Given the description of an element on the screen output the (x, y) to click on. 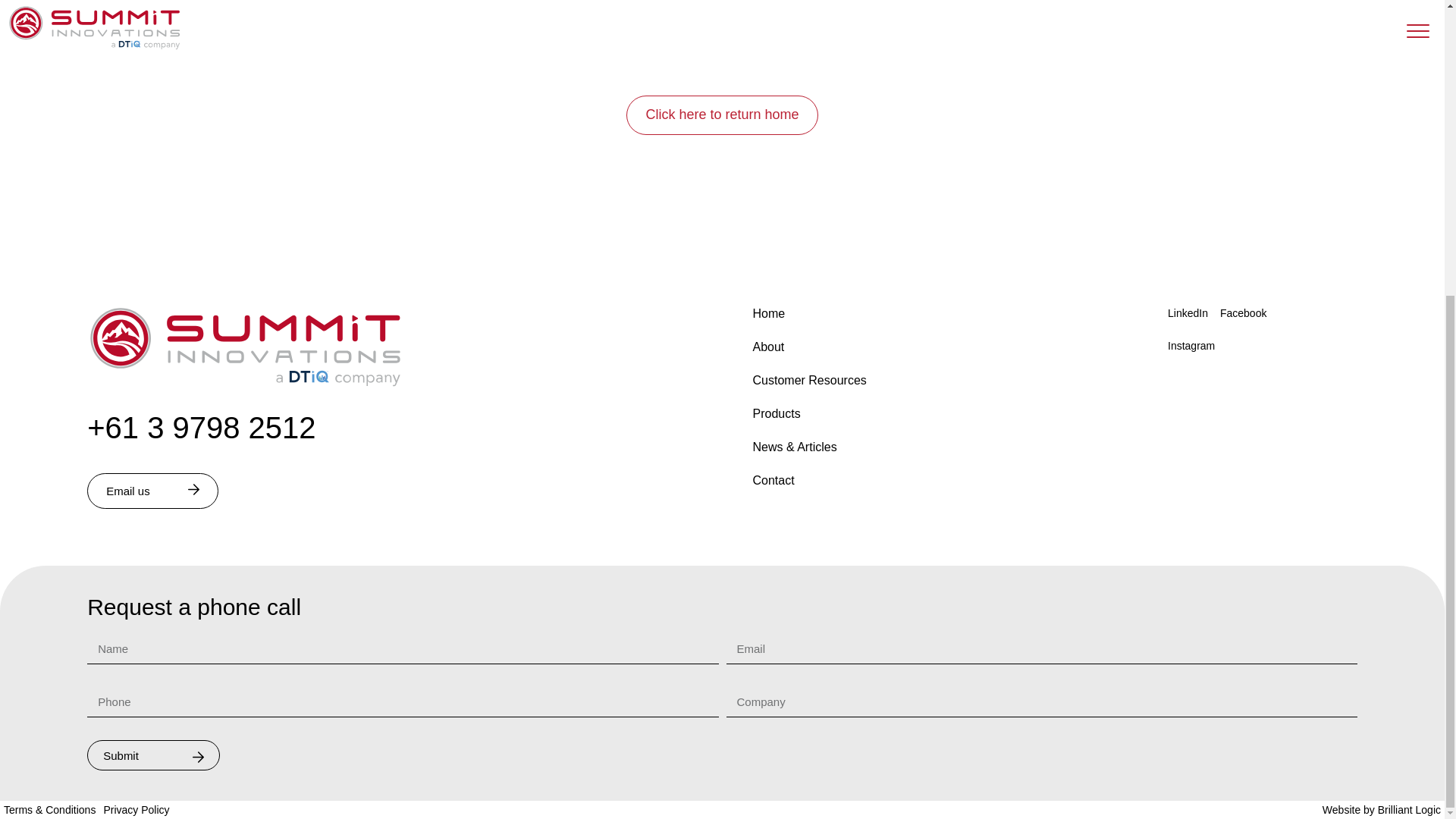
Return home (245, 385)
